Given the description of an element on the screen output the (x, y) to click on. 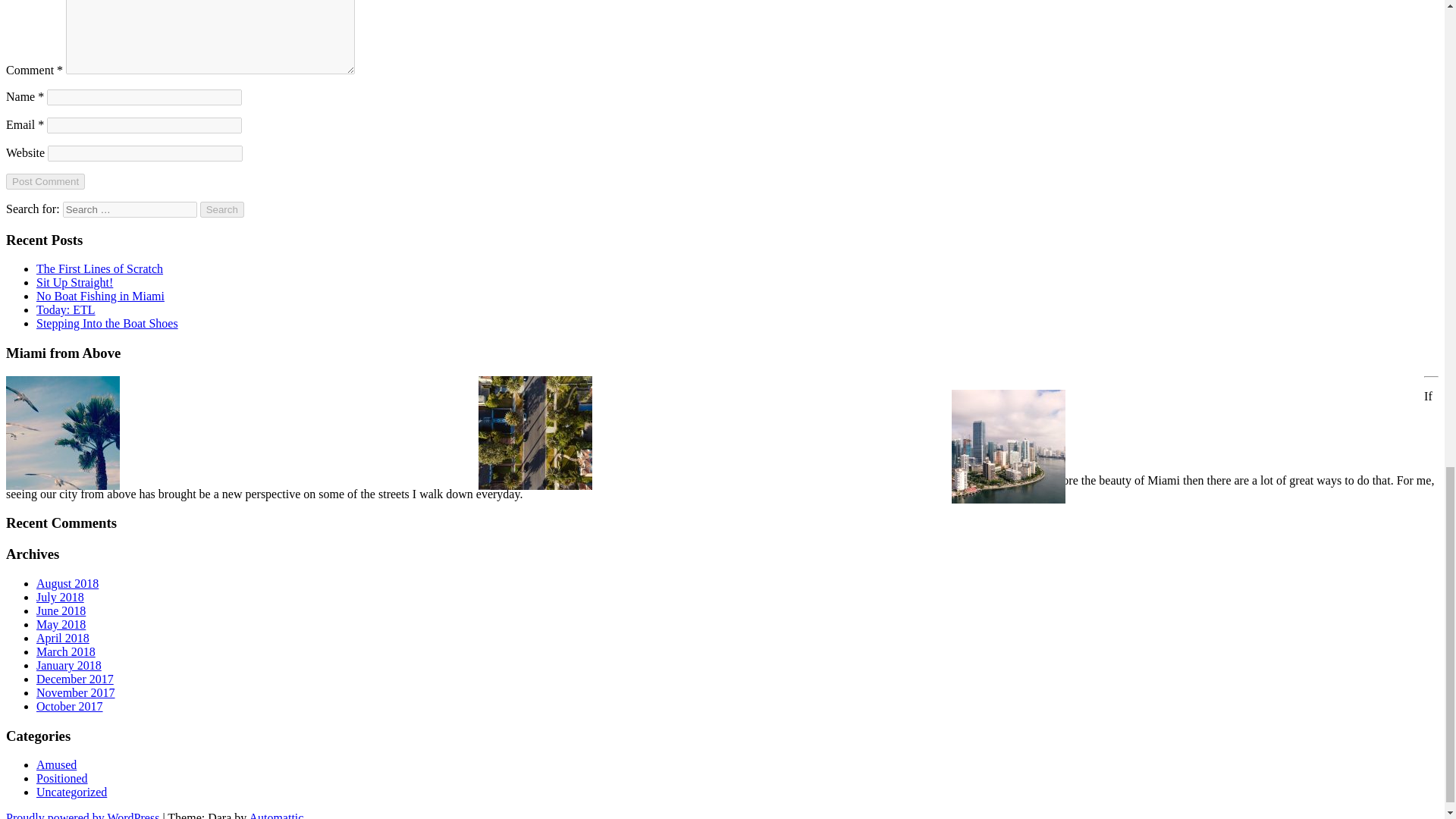
May 2018 (60, 624)
January 2018 (68, 665)
Stepping Into the Boat Shoes (106, 323)
June 2018 (60, 610)
October 2017 (69, 706)
No Boat Fishing in Miami (100, 295)
August 2018 (67, 583)
Search (222, 209)
Search (222, 209)
July 2018 (60, 596)
The First Lines of Scratch (99, 268)
April 2018 (62, 637)
November 2017 (75, 692)
December 2017 (74, 678)
Sit Up Straight! (74, 282)
